Given the description of an element on the screen output the (x, y) to click on. 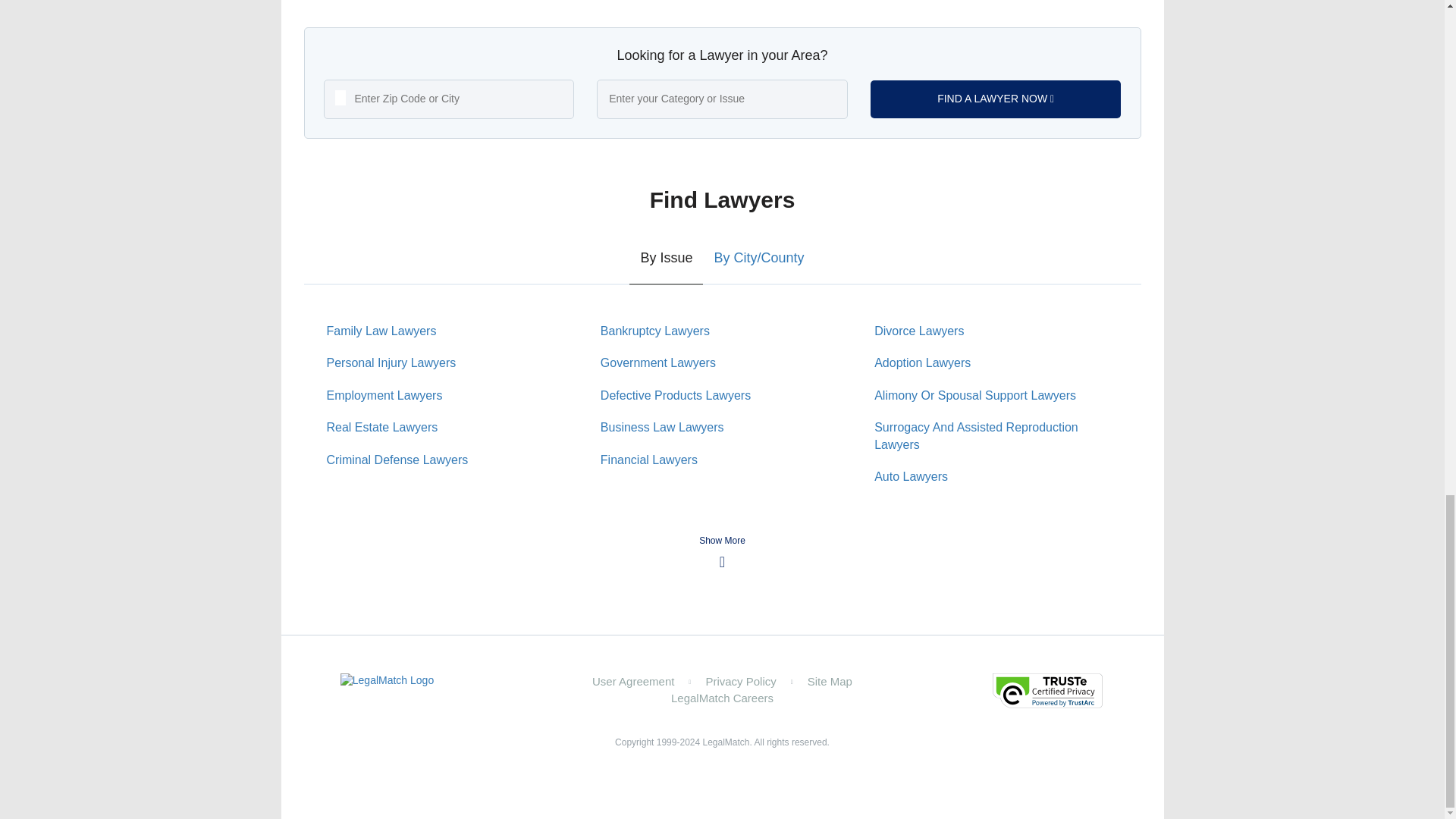
LegalMatch Careers (722, 697)
